Given the description of an element on the screen output the (x, y) to click on. 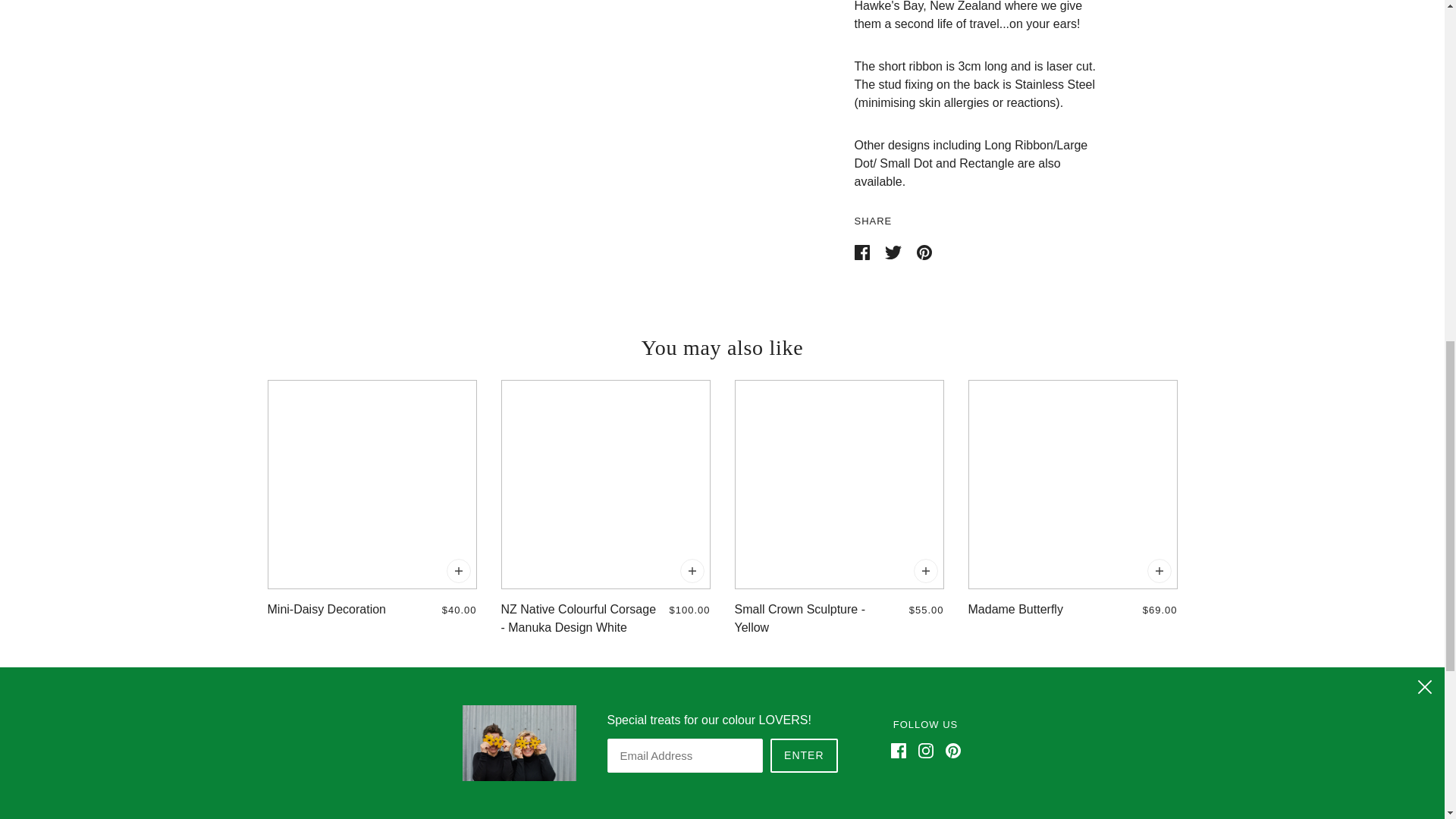
Refunds Policy (1077, 779)
Privacy Policy (1074, 760)
Shipping Policy (1077, 797)
Terms of Service (1081, 742)
Privacy Policy (1074, 760)
Terms of Service (1081, 742)
Refunds Policy (1077, 779)
Shipping Policy (1077, 797)
